Given the description of an element on the screen output the (x, y) to click on. 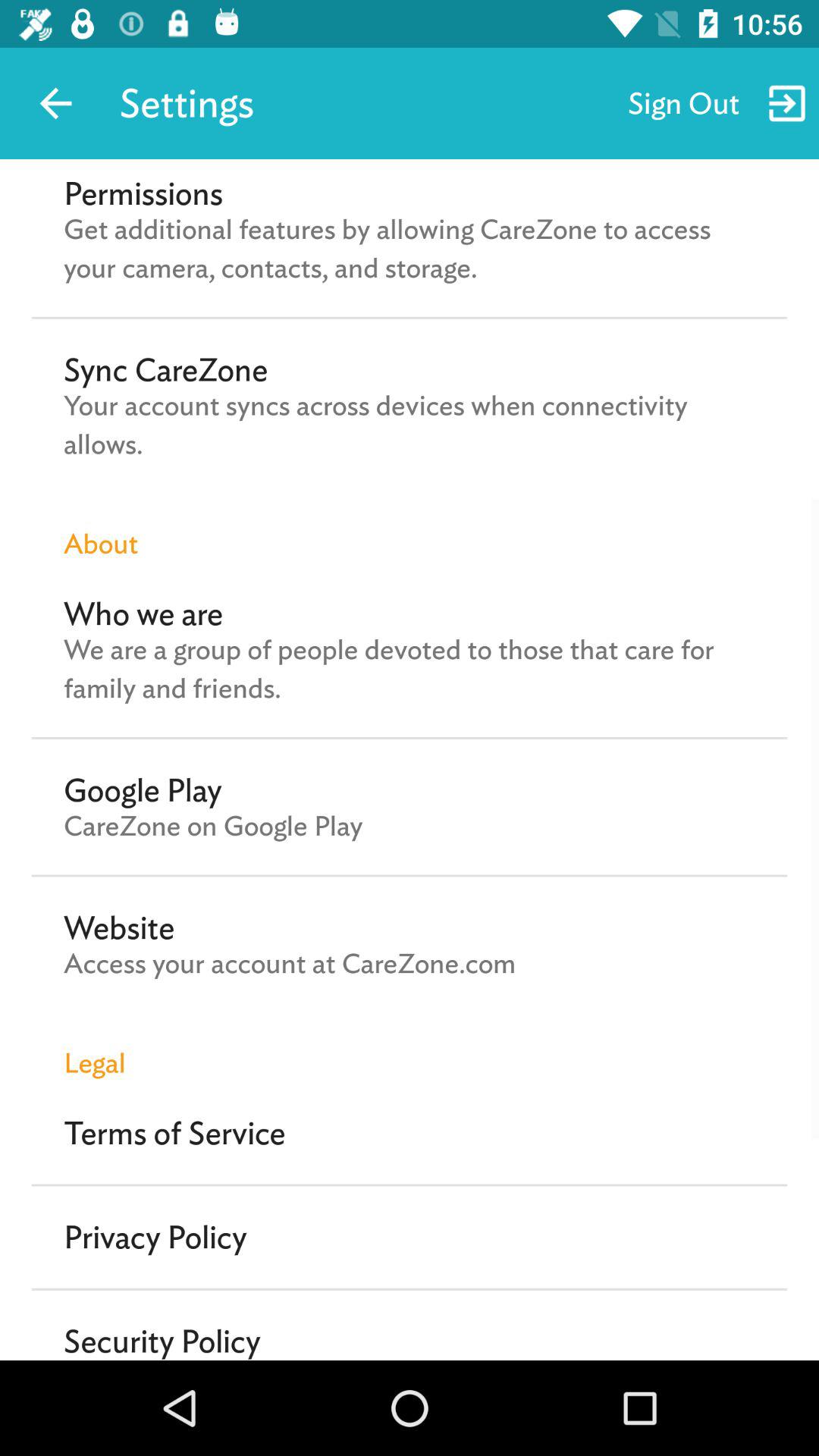
turn on icon above website (212, 825)
